Given the description of an element on the screen output the (x, y) to click on. 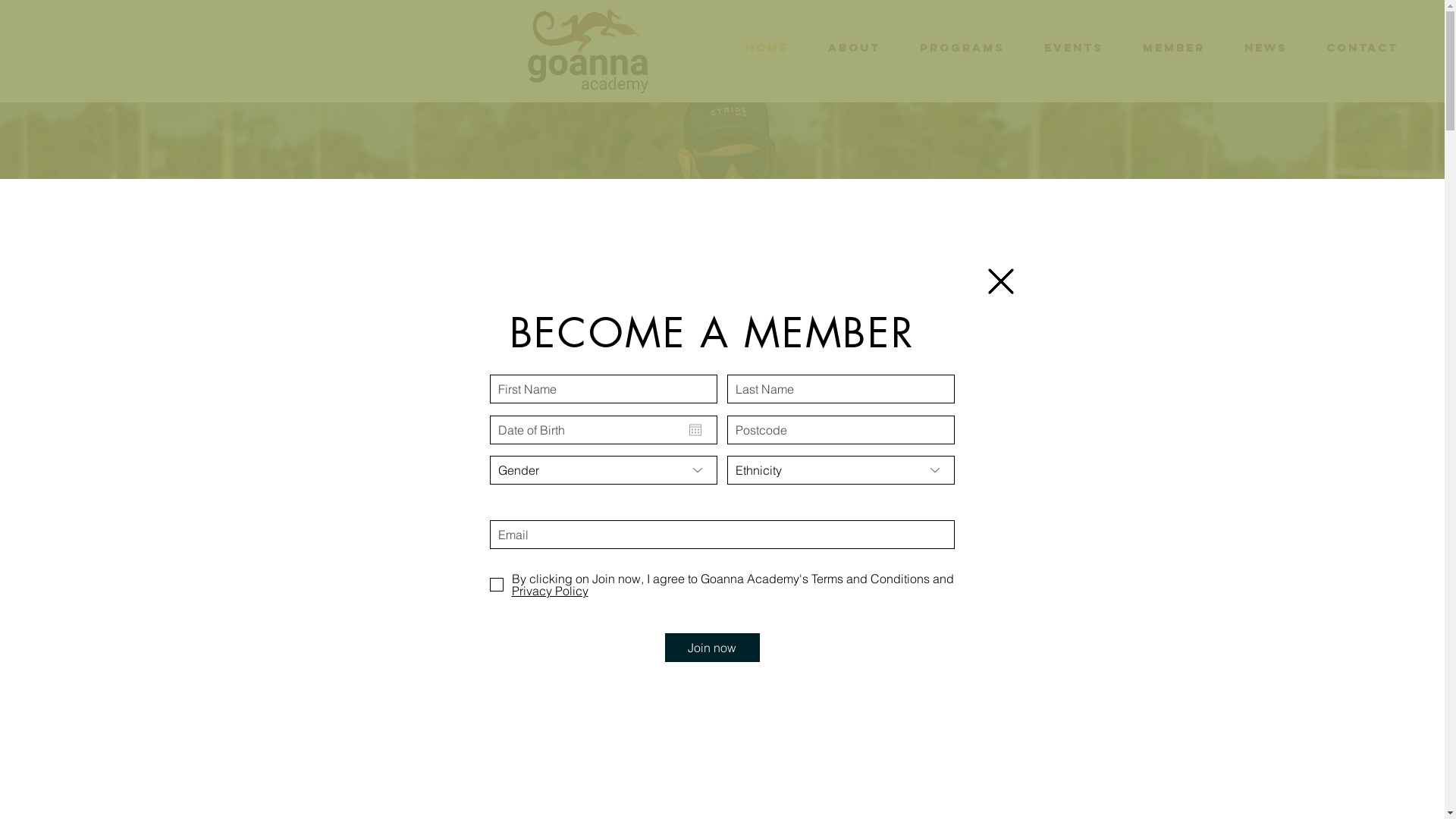
About Element type: text (854, 47)
Programs Element type: text (962, 47)
Member Element type: text (1173, 47)
Events Element type: text (1073, 47)
Contact Element type: text (1361, 47)
JOIN TODAY Element type: text (182, 597)
Home Element type: text (766, 47)
News Element type: text (1265, 47)
Back to site Element type: hover (1000, 281)
Privacy Policy Element type: text (732, 596)
Join now Element type: text (711, 647)
